Given the description of an element on the screen output the (x, y) to click on. 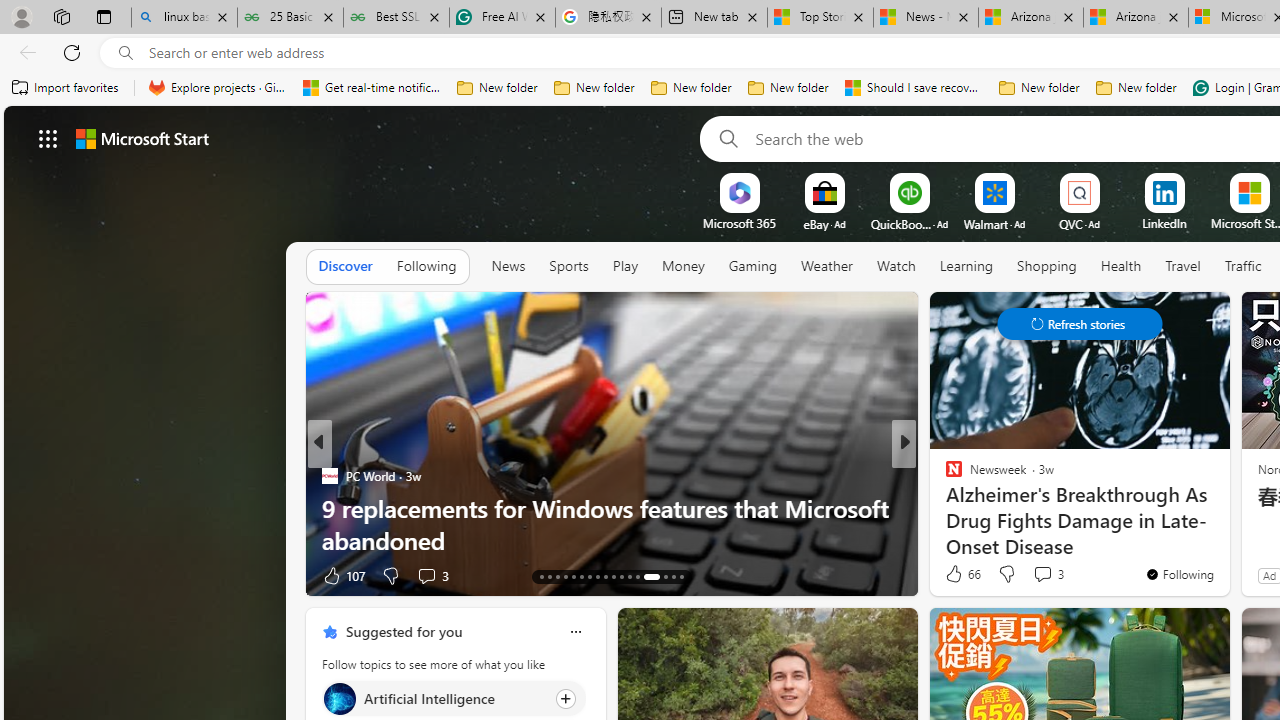
PC World (329, 475)
Click to follow topic Artificial Intelligence (453, 698)
Play (625, 265)
New folder (1136, 88)
Microsoft start (142, 138)
AutomationID: tab-26 (651, 576)
oceanbluemarine (982, 507)
Watch (895, 265)
Best SSL Certificates Provider in India - GeeksforGeeks (396, 17)
25 Basic Linux Commands For Beginners - GeeksforGeeks (290, 17)
AutomationID: tab-28 (673, 576)
328 Like (959, 574)
